Given the description of an element on the screen output the (x, y) to click on. 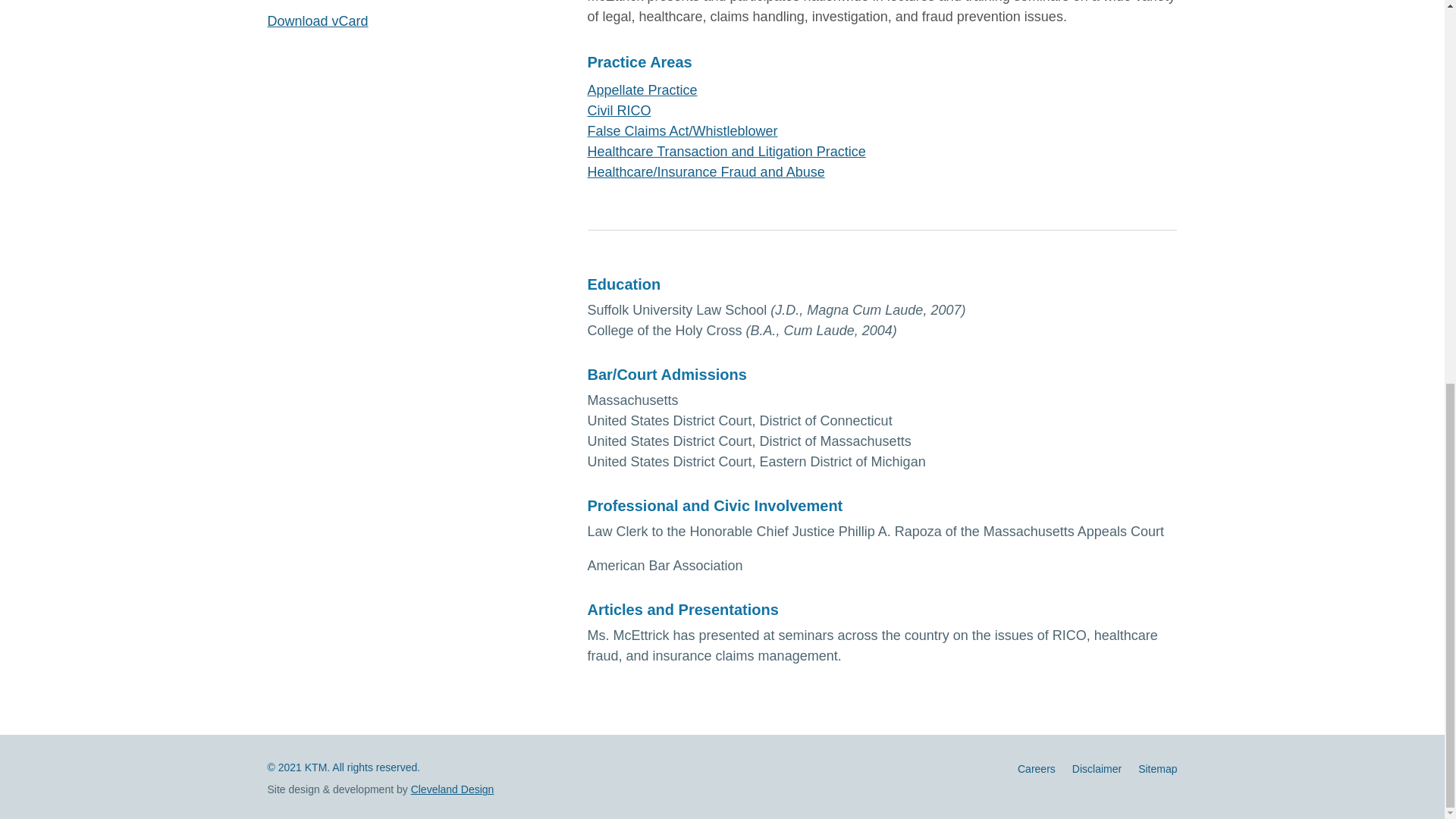
Cleveland Design (452, 788)
Healthcare Transaction and Litigation Practice (725, 151)
Disclaimer (1096, 771)
Appellate Practice (641, 89)
Cleveland Design (452, 788)
Careers (1036, 771)
Civil RICO (618, 110)
Sitemap (1157, 771)
